Given the description of an element on the screen output the (x, y) to click on. 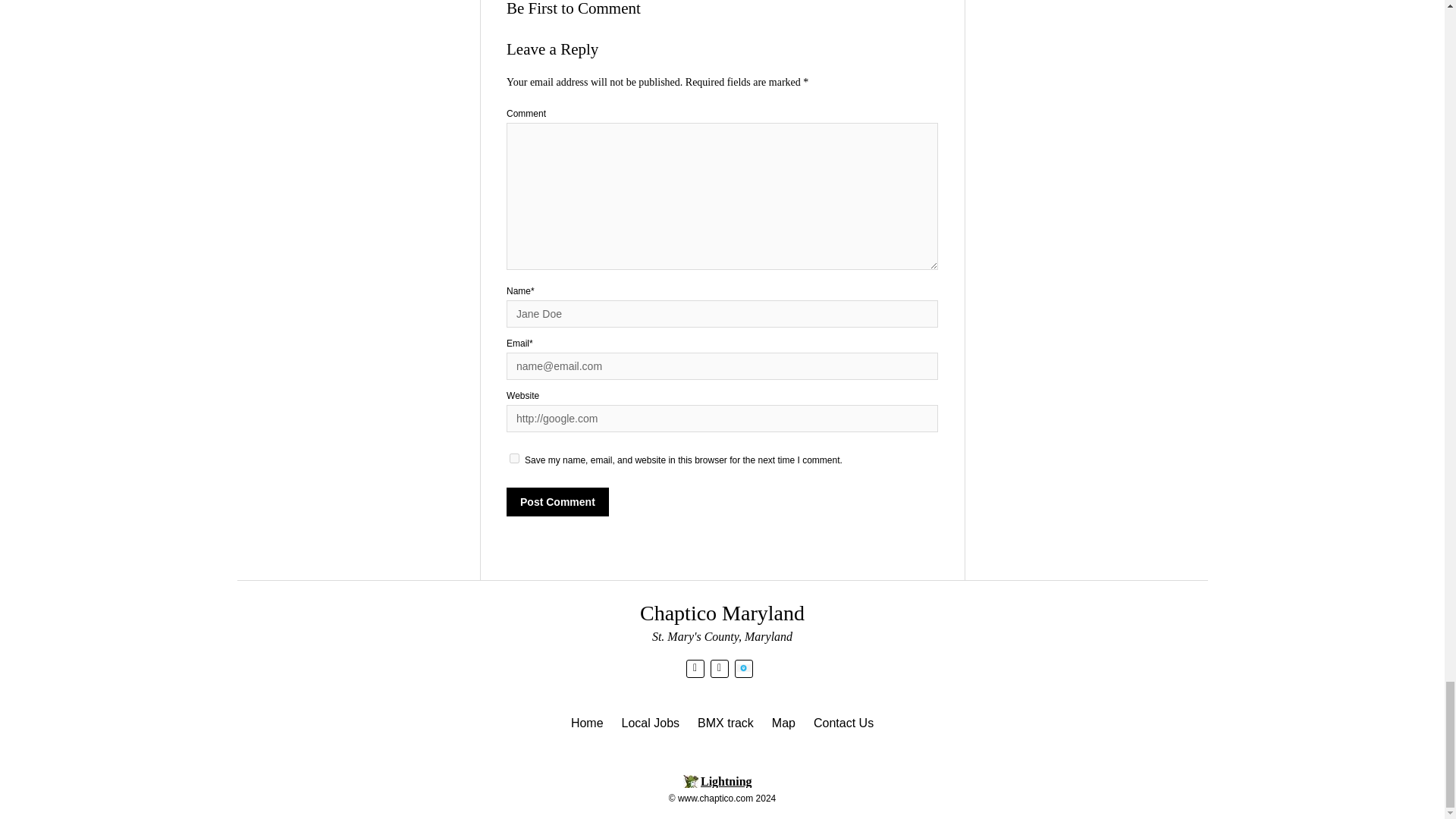
yes (514, 458)
Post Comment (557, 501)
